Given the description of an element on the screen output the (x, y) to click on. 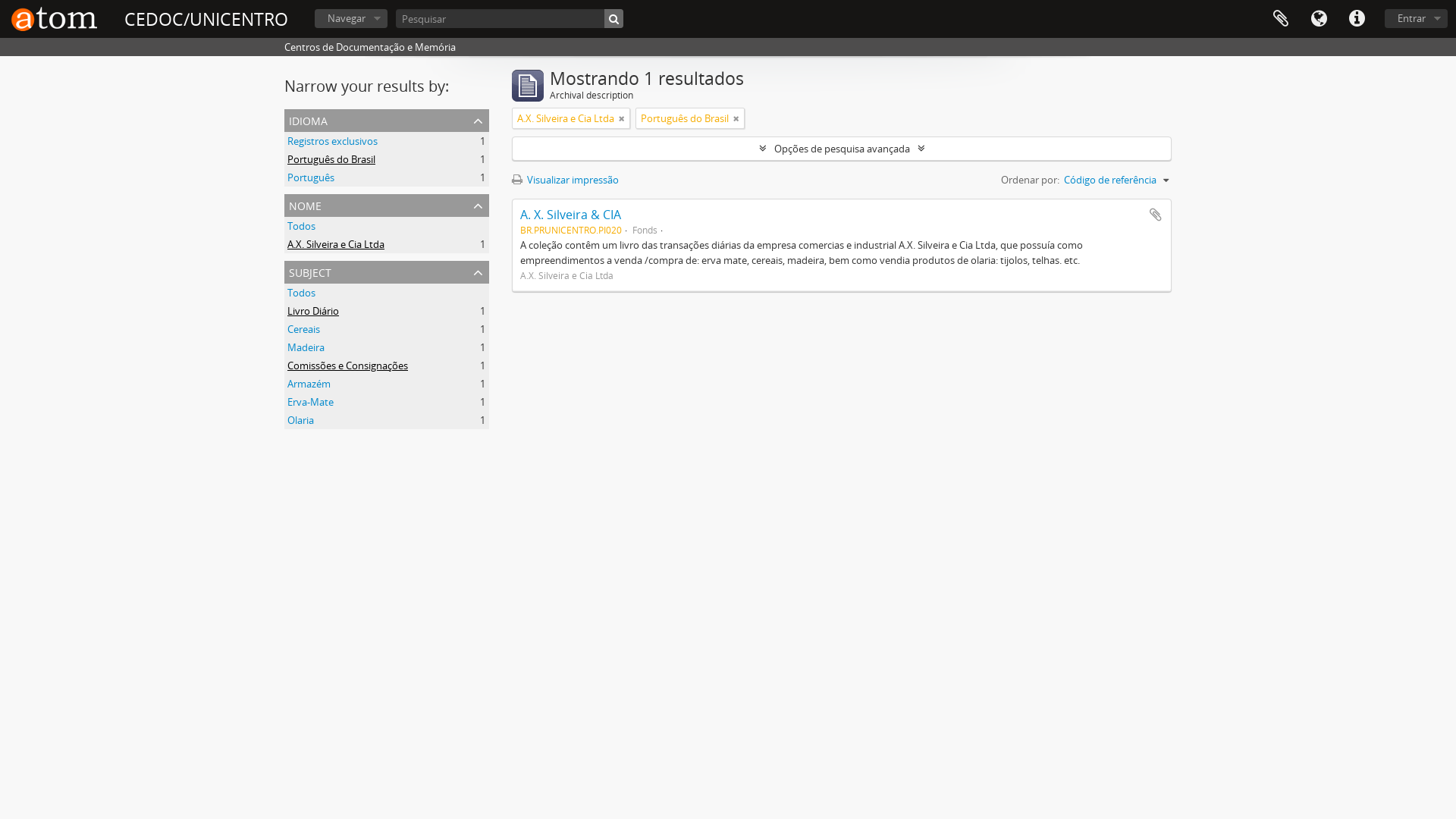
nome Element type: text (386, 205)
Registros exclusivos Element type: text (332, 140)
Entrar Element type: text (1415, 18)
idioma Element type: text (386, 120)
Atalhos Element type: text (1356, 18)
Navegar Element type: text (350, 18)
CEDOC/UNICENTRO Element type: text (206, 19)
Madeira Element type: text (305, 347)
Todos Element type: text (301, 225)
Todos Element type: text (301, 292)
Olaria Element type: text (300, 419)
Idioma Element type: text (1318, 18)
subject Element type: text (386, 271)
Erva-Mate Element type: text (310, 401)
A. X. Silveira & CIA Element type: text (570, 214)
Cereais Element type: text (303, 328)
A.X. Silveira e Cia Ltda Element type: text (335, 244)
